Given the description of an element on the screen output the (x, y) to click on. 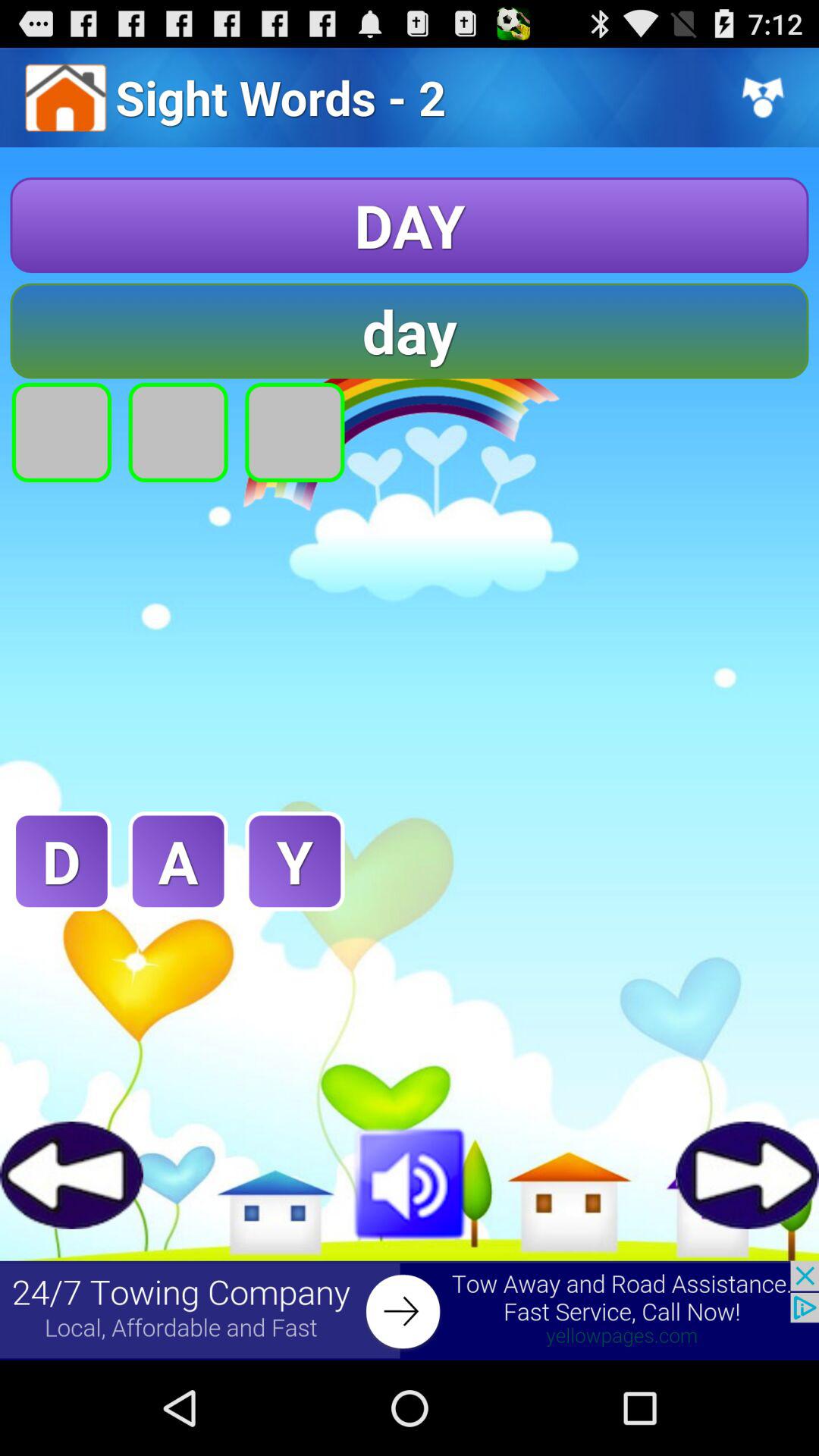
games button (71, 1175)
